Given the description of an element on the screen output the (x, y) to click on. 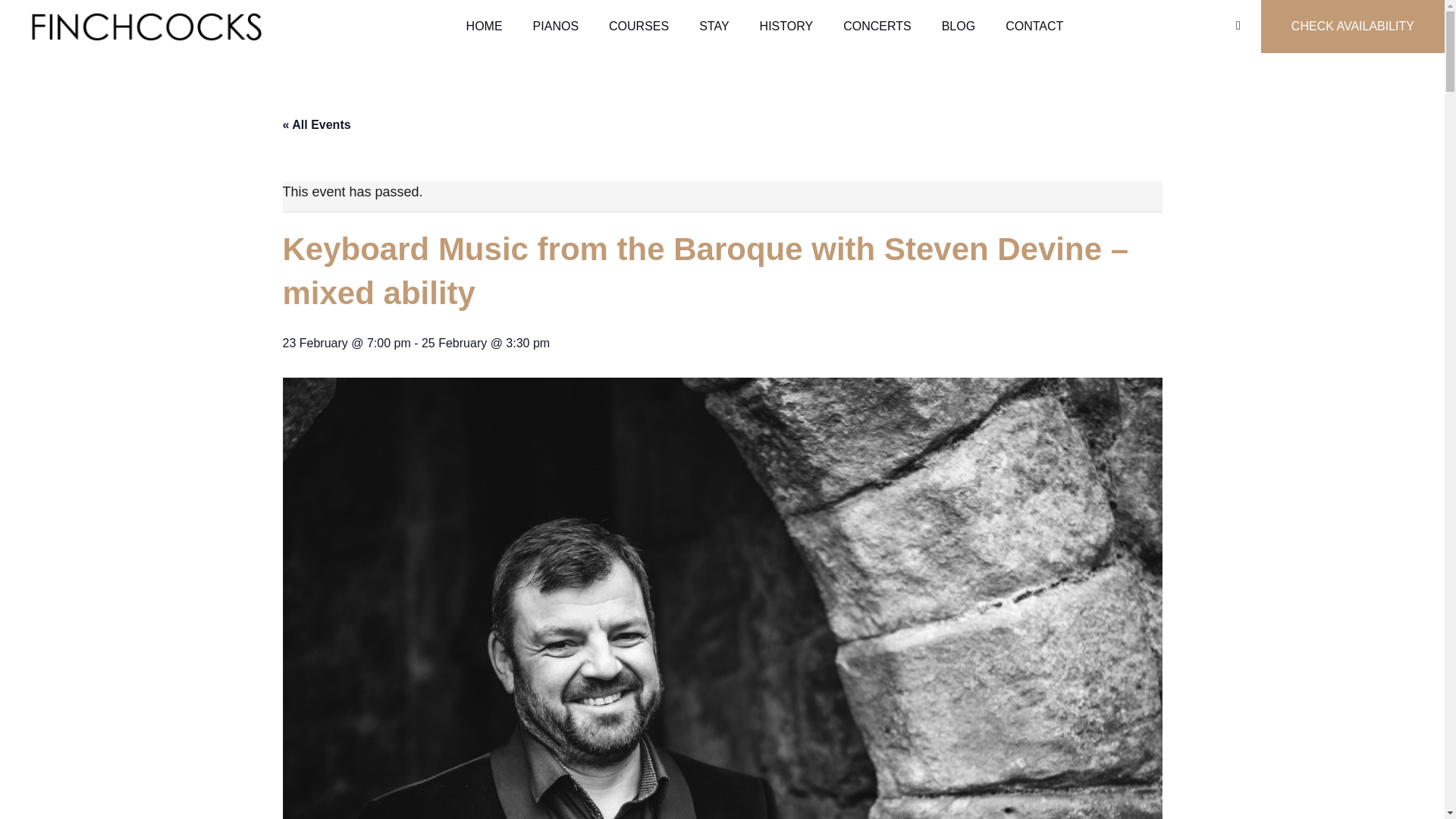
PIANOS (556, 26)
BLOG (958, 26)
CONCERTS (877, 26)
HOME (484, 26)
COURSES (639, 26)
STAY (714, 26)
CONTACT (1034, 26)
HISTORY (786, 26)
